Given the description of an element on the screen output the (x, y) to click on. 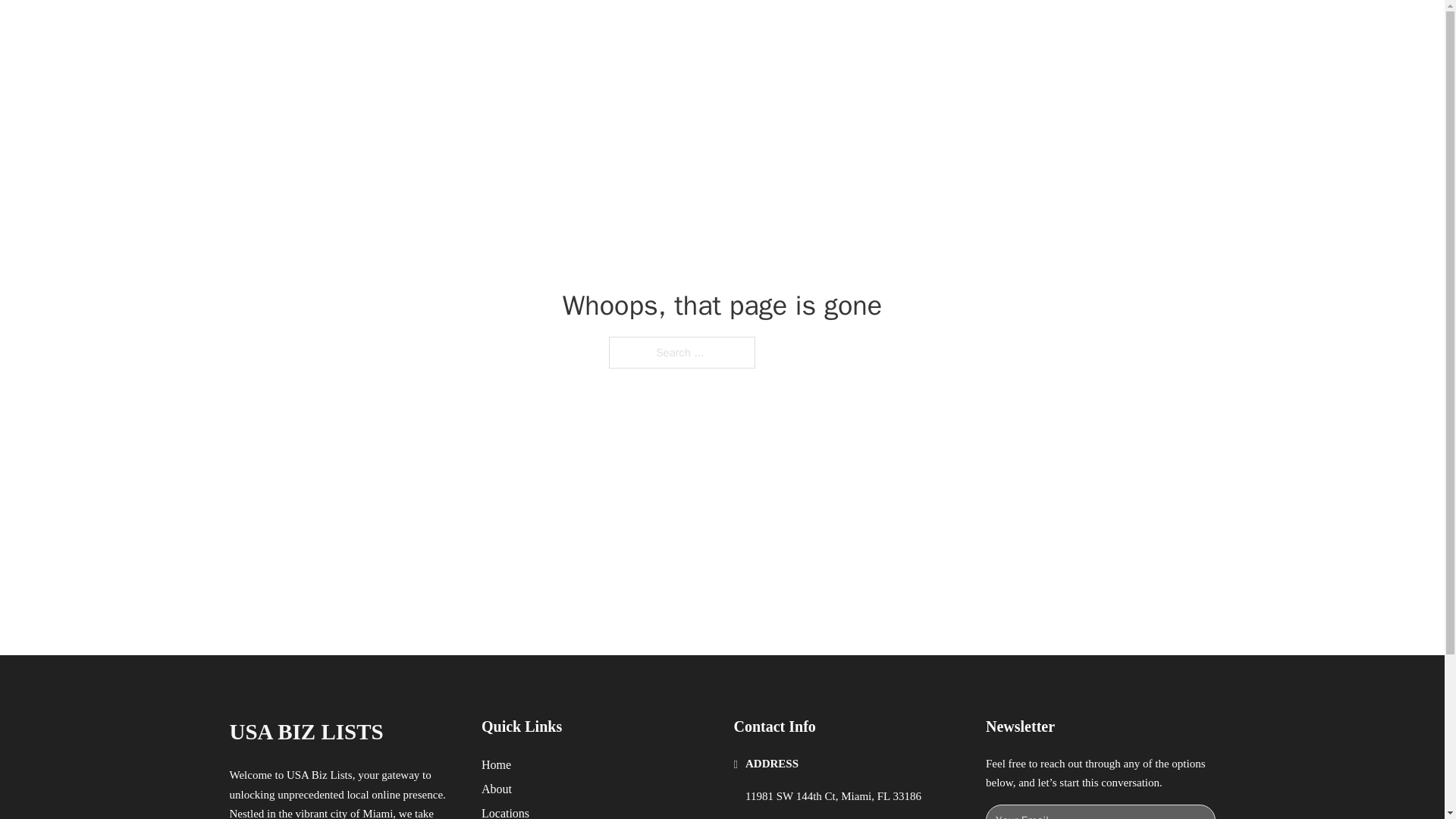
Locations (505, 811)
LOCATIONS (990, 29)
HOME (919, 29)
USA BIZ LISTS (384, 28)
About (496, 788)
Home (496, 764)
USA BIZ LISTS (305, 732)
